Given the description of an element on the screen output the (x, y) to click on. 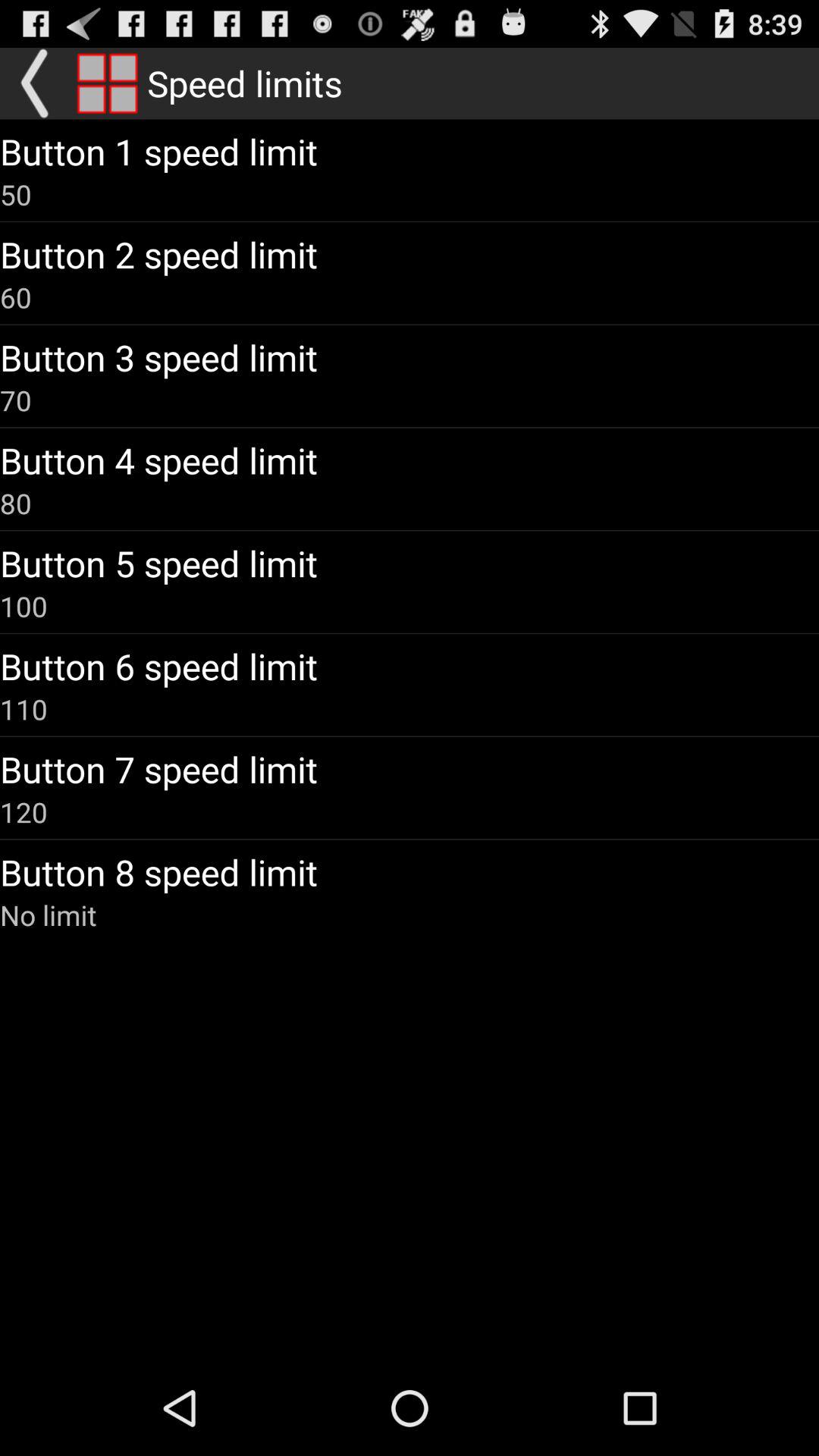
turn on icon below button 8 speed (48, 914)
